Given the description of an element on the screen output the (x, y) to click on. 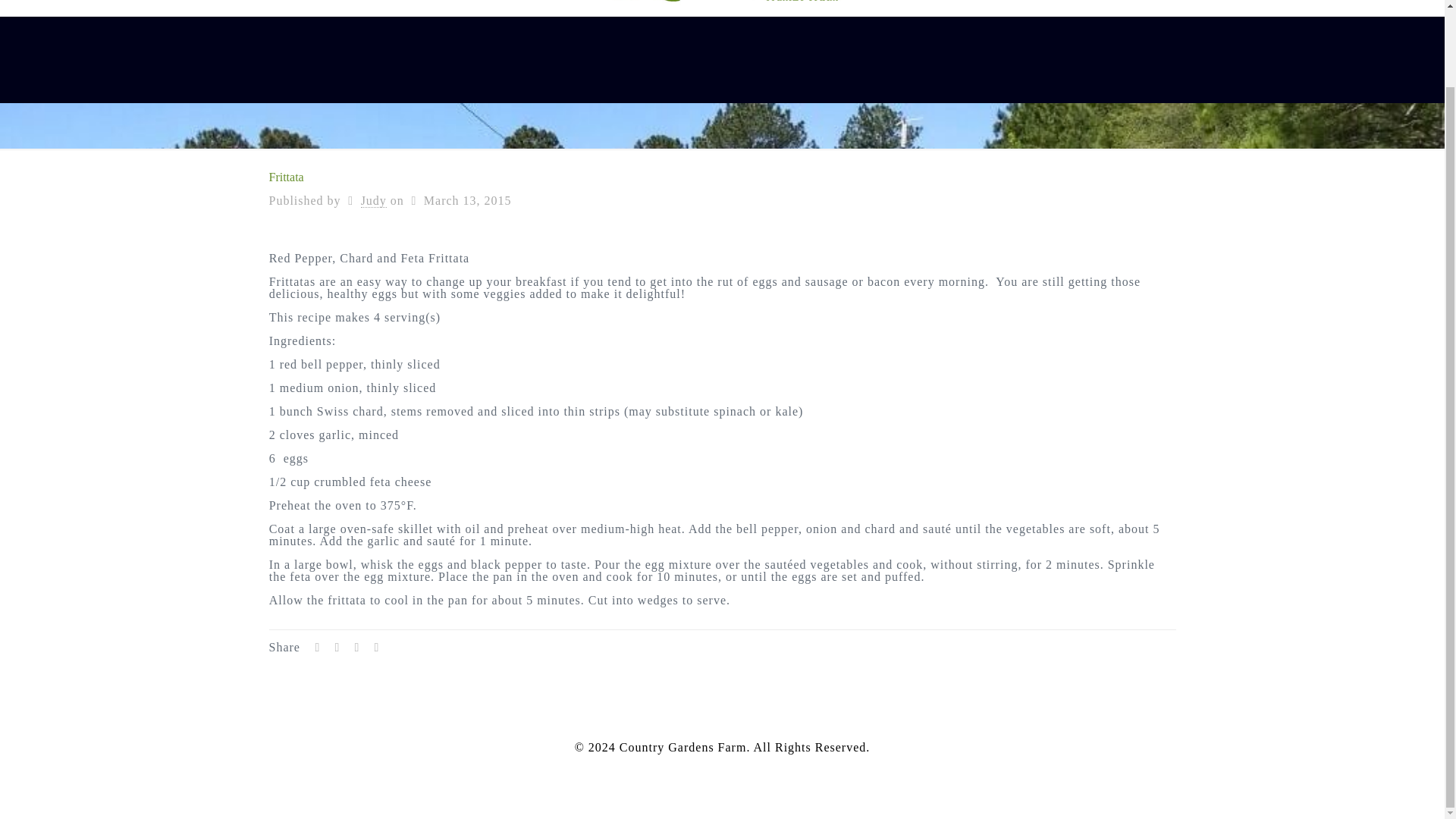
Country Gardens Farm (721, 7)
Shop (1115, 7)
About (1187, 7)
YouTube (722, 767)
Home (1046, 7)
Instagram (738, 767)
Facebook (705, 767)
Discover (1269, 7)
